Given the description of an element on the screen output the (x, y) to click on. 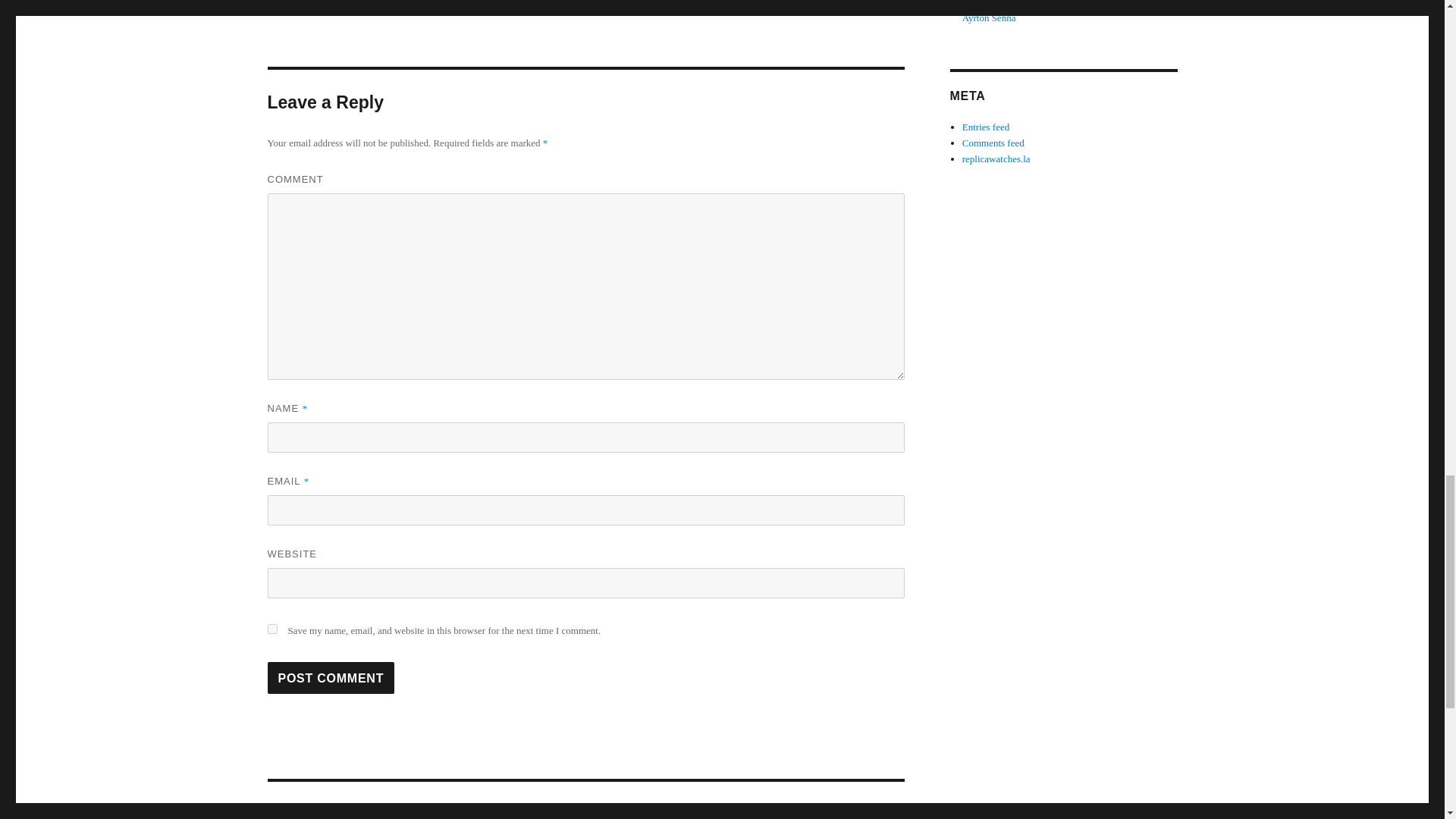
Post Comment (330, 677)
yes (271, 628)
Post Comment (330, 677)
